Given the description of an element on the screen output the (x, y) to click on. 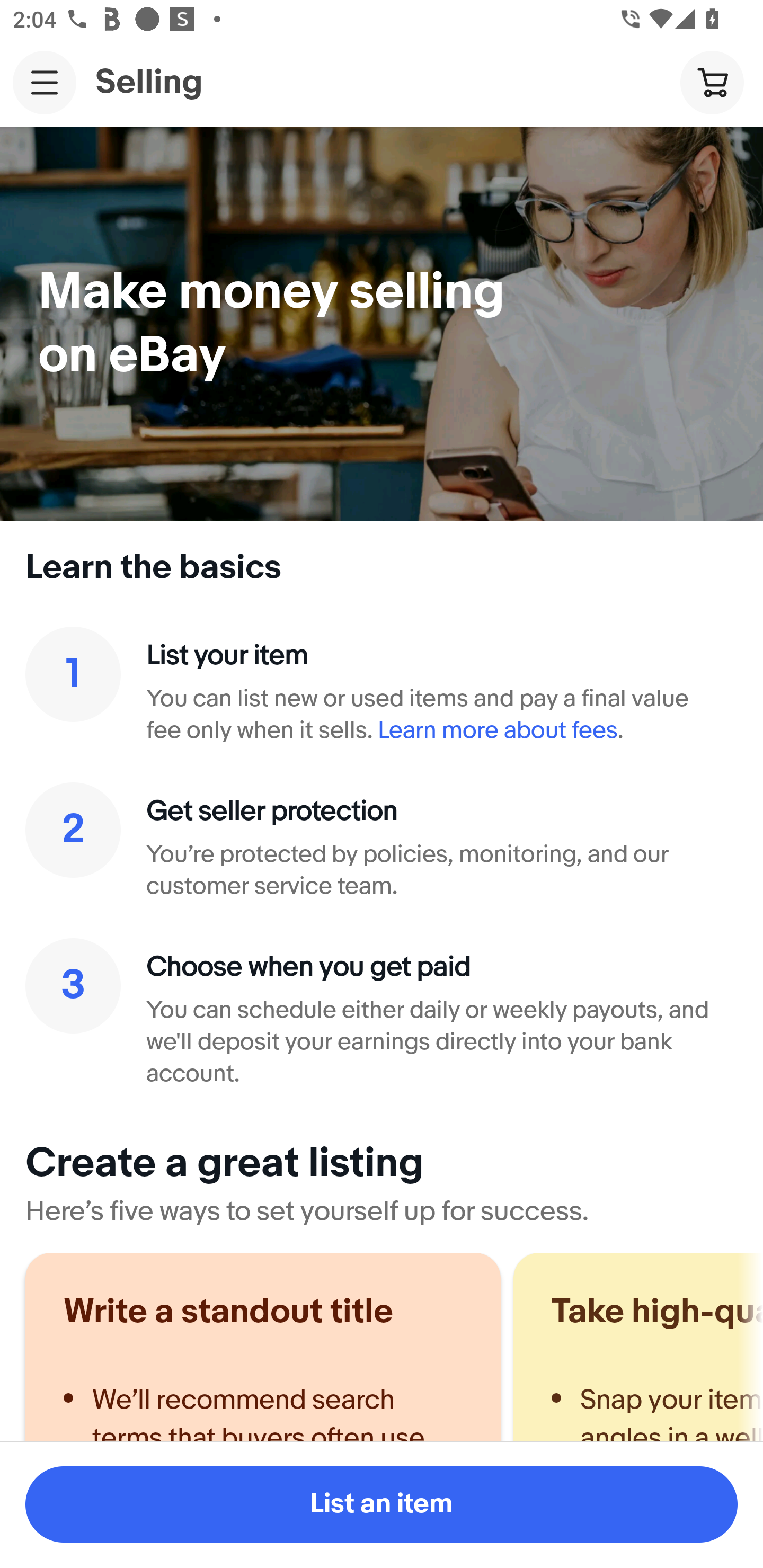
Main navigation, open (44, 82)
Cart button shopping cart (711, 81)
List an item (381, 1504)
